Given the description of an element on the screen output the (x, y) to click on. 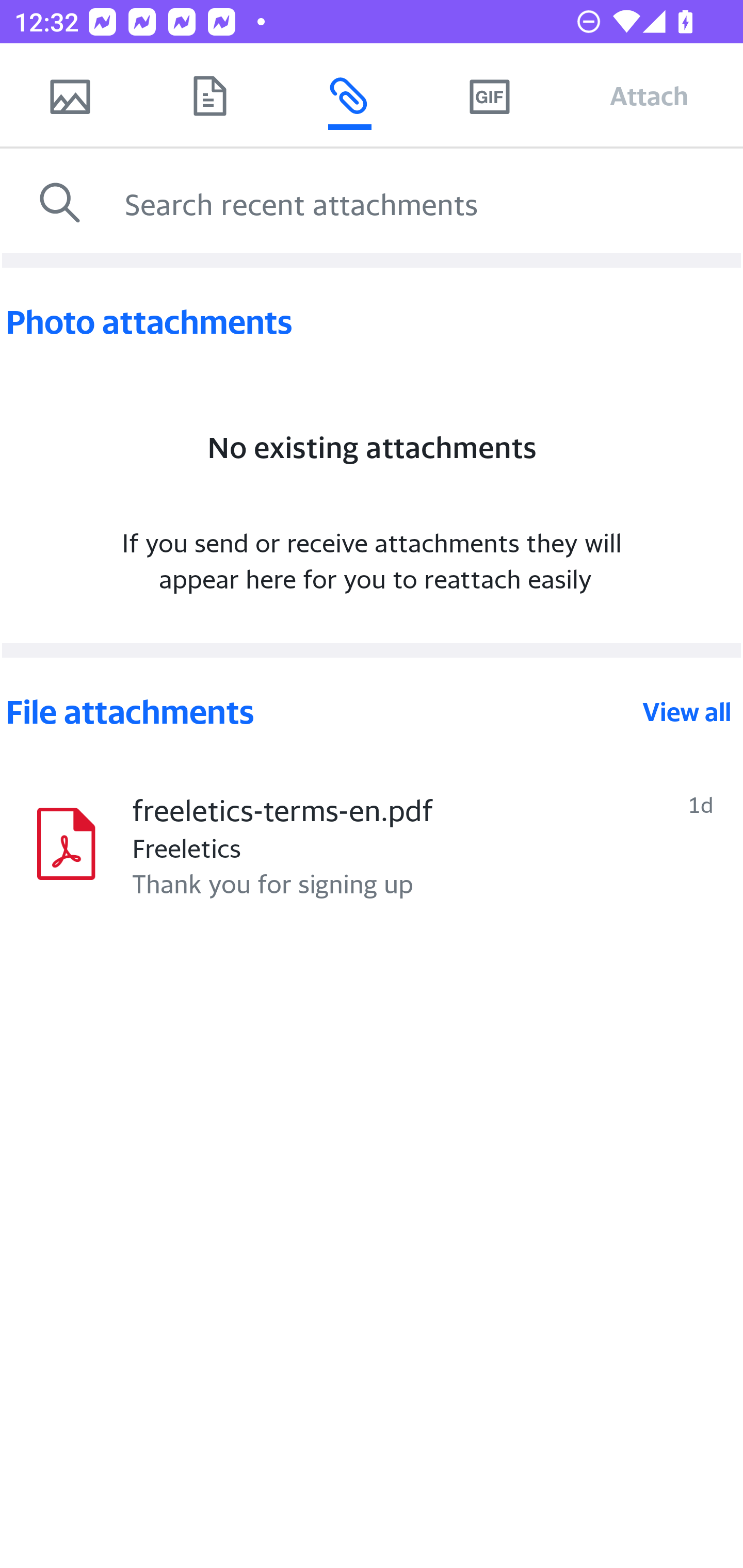
Camera photos (69, 95)
Device files (209, 95)
Recent attachments from mail (349, 95)
GIFs (489, 95)
Attach (649, 95)
Search recent attachments (428, 203)
Photo attachments (371, 322)
File attachments (321, 711)
View all (686, 711)
